Given the description of an element on the screen output the (x, y) to click on. 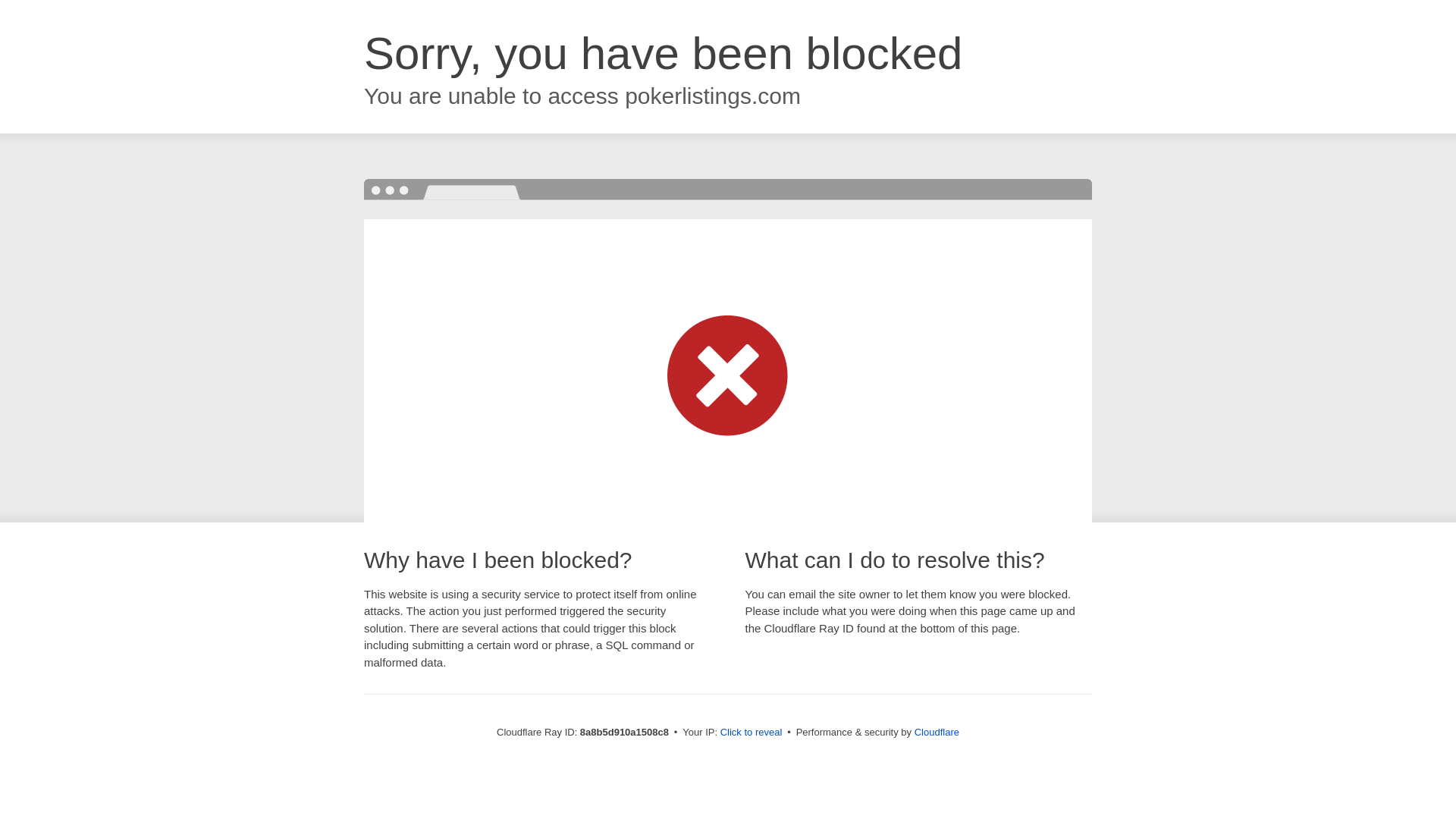
Cloudflare (936, 731)
Click to reveal (751, 732)
